Given the description of an element on the screen output the (x, y) to click on. 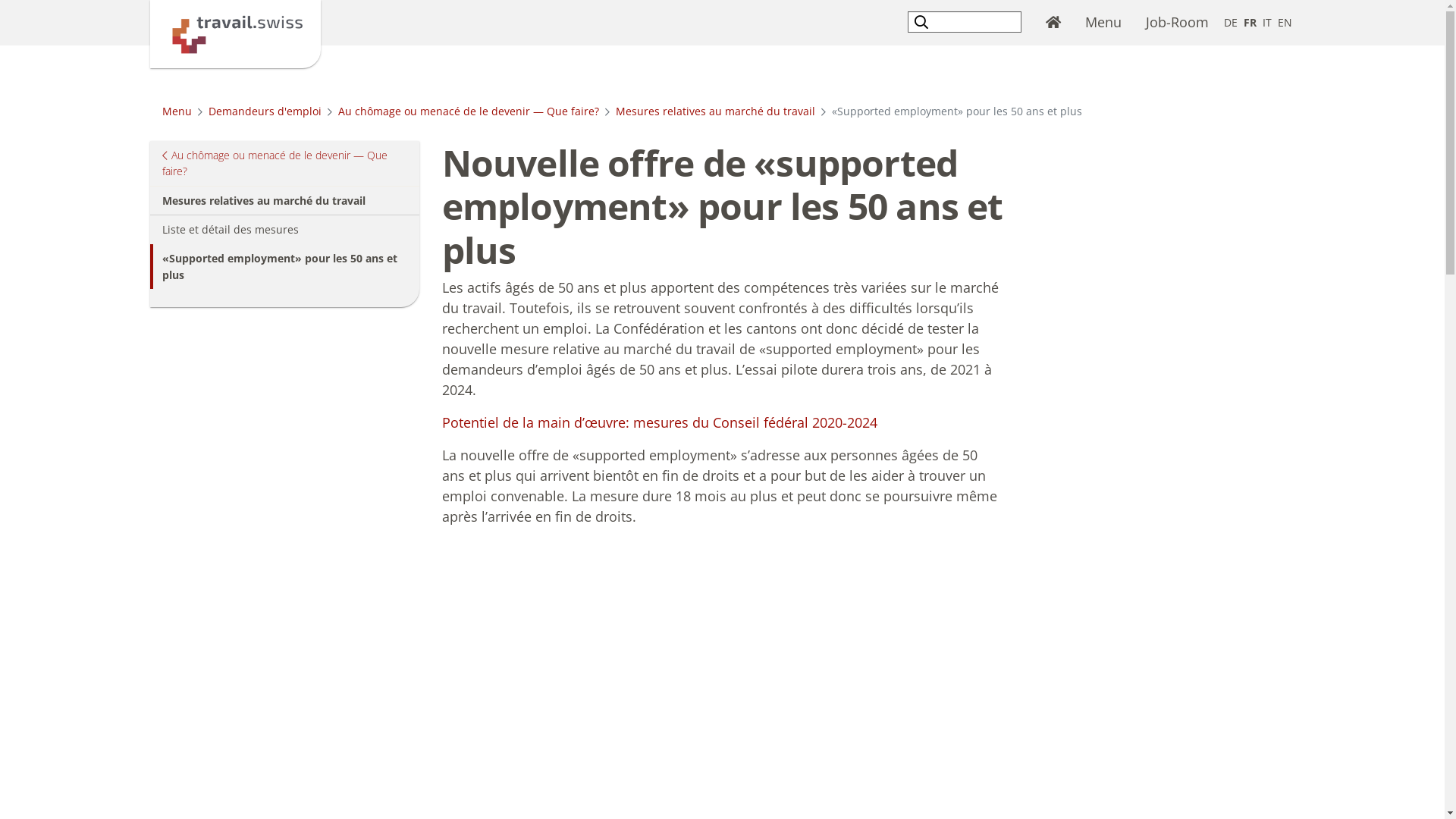
Menu Element type: text (176, 110)
Job-Room Element type: text (1176, 22)
FR Element type: text (1249, 22)
DE Element type: text (1230, 22)
IT Element type: text (1266, 22)
EN Element type: text (1284, 22)
Menu
current page Element type: text (1102, 22)
Page d'accueil Element type: hover (235, 32)
Page d'accueil Element type: hover (1052, 22)
Recherche Element type: text (923, 21)
Demandeurs d'emploi Element type: text (263, 110)
